Given the description of an element on the screen output the (x, y) to click on. 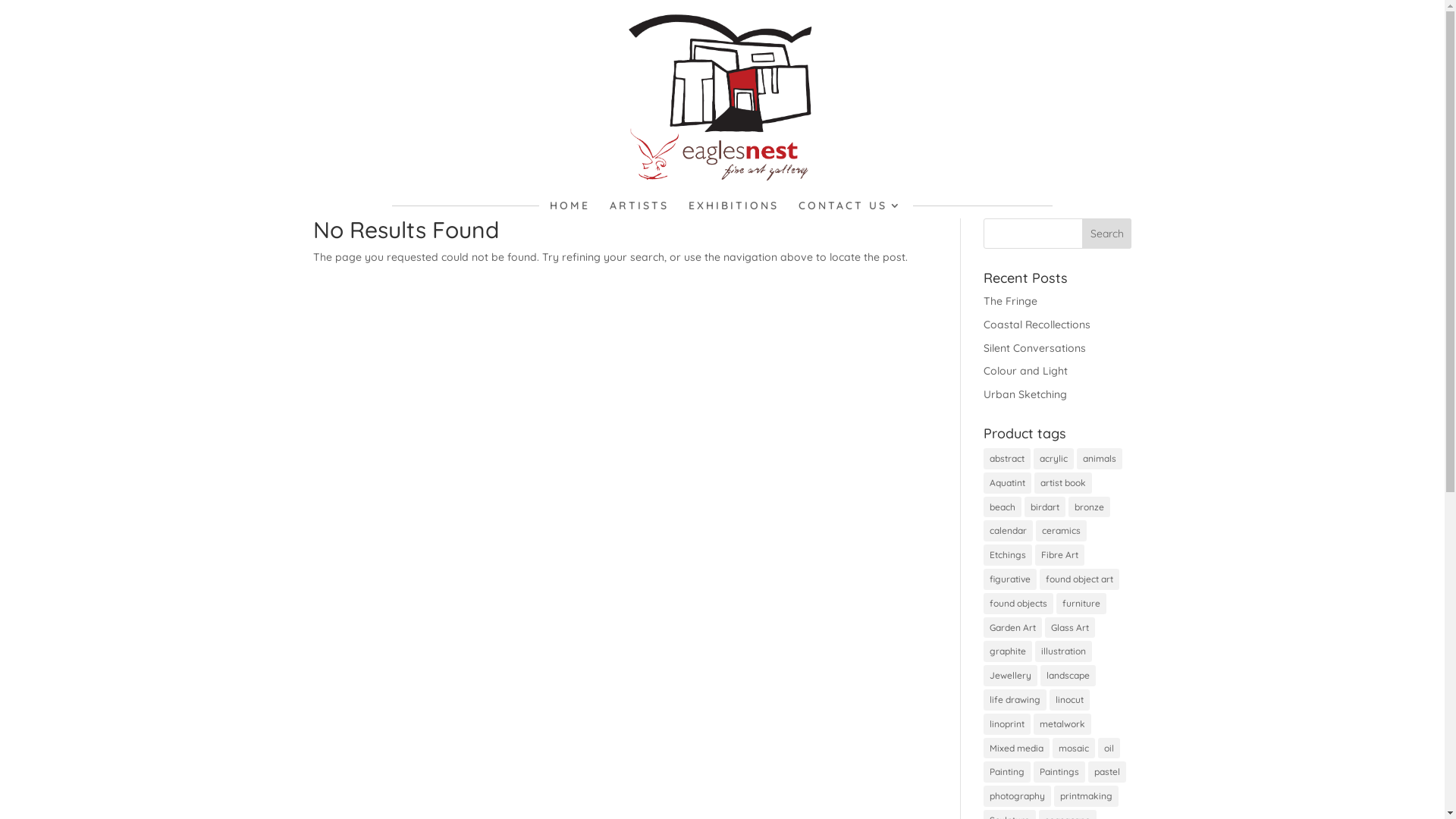
EXHIBITIONS Element type: text (733, 209)
HOME Element type: text (569, 209)
Mixed media Element type: text (1016, 748)
Fibre Art Element type: text (1059, 554)
pastel Element type: text (1107, 771)
printmaking Element type: text (1086, 795)
CONTACT US Element type: text (850, 209)
metalwork Element type: text (1062, 723)
animals Element type: text (1099, 458)
calendar Element type: text (1007, 530)
linoprint Element type: text (1006, 723)
abstract Element type: text (1006, 458)
graphite Element type: text (1007, 651)
Paintings Element type: text (1059, 771)
oil Element type: text (1109, 748)
landscape Element type: text (1067, 675)
Silent Conversations Element type: text (1034, 347)
life drawing Element type: text (1014, 699)
Jewellery Element type: text (1010, 675)
birdart Element type: text (1044, 506)
Urban Sketching Element type: text (1024, 394)
beach Element type: text (1002, 506)
Search Element type: text (1107, 233)
ceramics Element type: text (1060, 530)
Glass Art Element type: text (1069, 627)
Aquatint Element type: text (1007, 482)
Colour and Light Element type: text (1025, 370)
Coastal Recollections Element type: text (1036, 324)
ARTISTS Element type: text (638, 209)
found object art Element type: text (1079, 578)
figurative Element type: text (1009, 578)
artist book Element type: text (1063, 482)
linocut Element type: text (1069, 699)
Garden Art Element type: text (1012, 627)
The Fringe Element type: text (1010, 300)
Painting Element type: text (1006, 771)
acrylic Element type: text (1053, 458)
Etchings Element type: text (1007, 554)
furniture Element type: text (1081, 603)
found objects Element type: text (1018, 603)
illustration Element type: text (1063, 651)
mosaic Element type: text (1073, 748)
bronze Element type: text (1089, 506)
photography Element type: text (1017, 795)
